Given the description of an element on the screen output the (x, y) to click on. 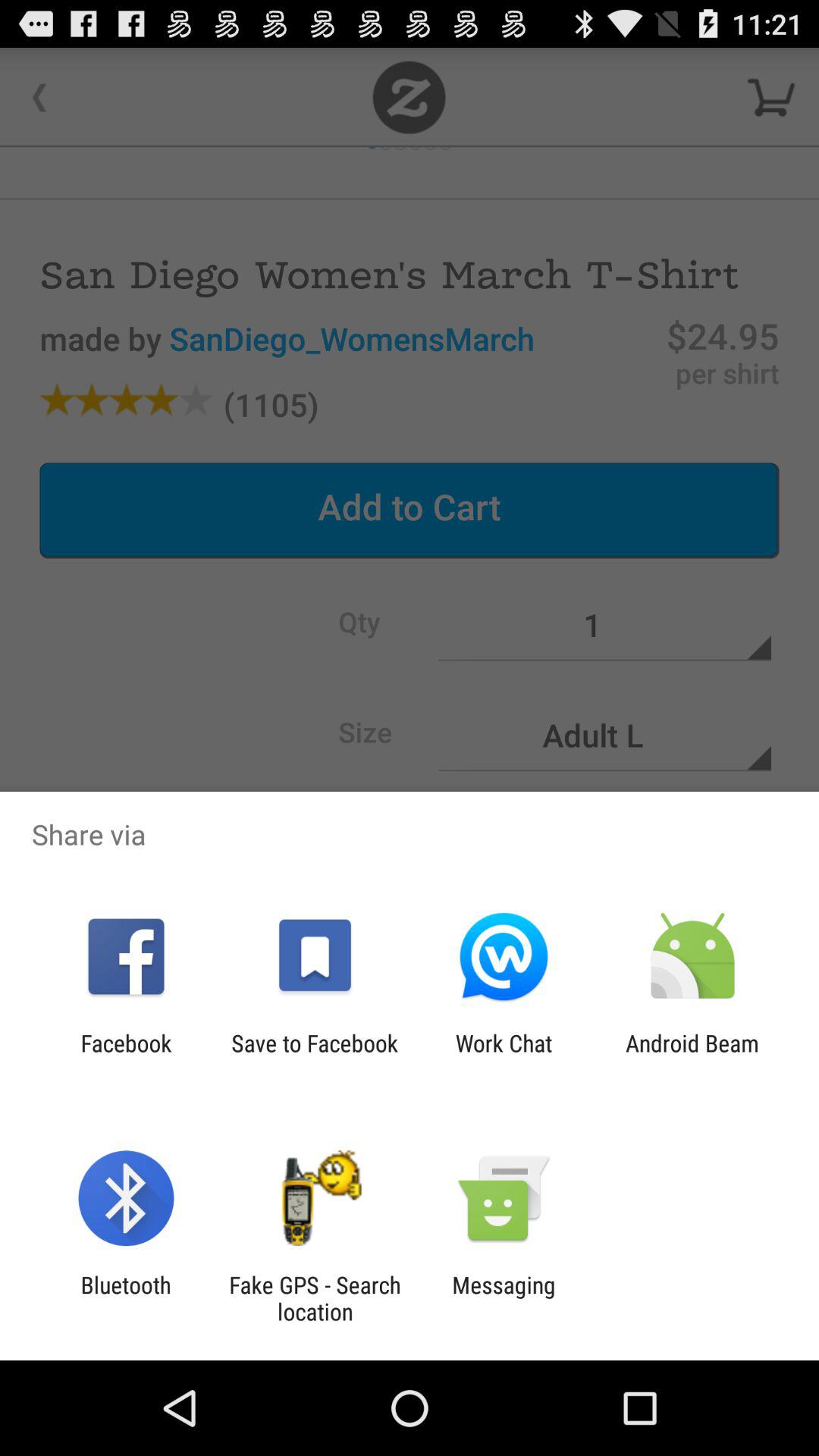
select the app next to save to facebook item (503, 1056)
